Given the description of an element on the screen output the (x, y) to click on. 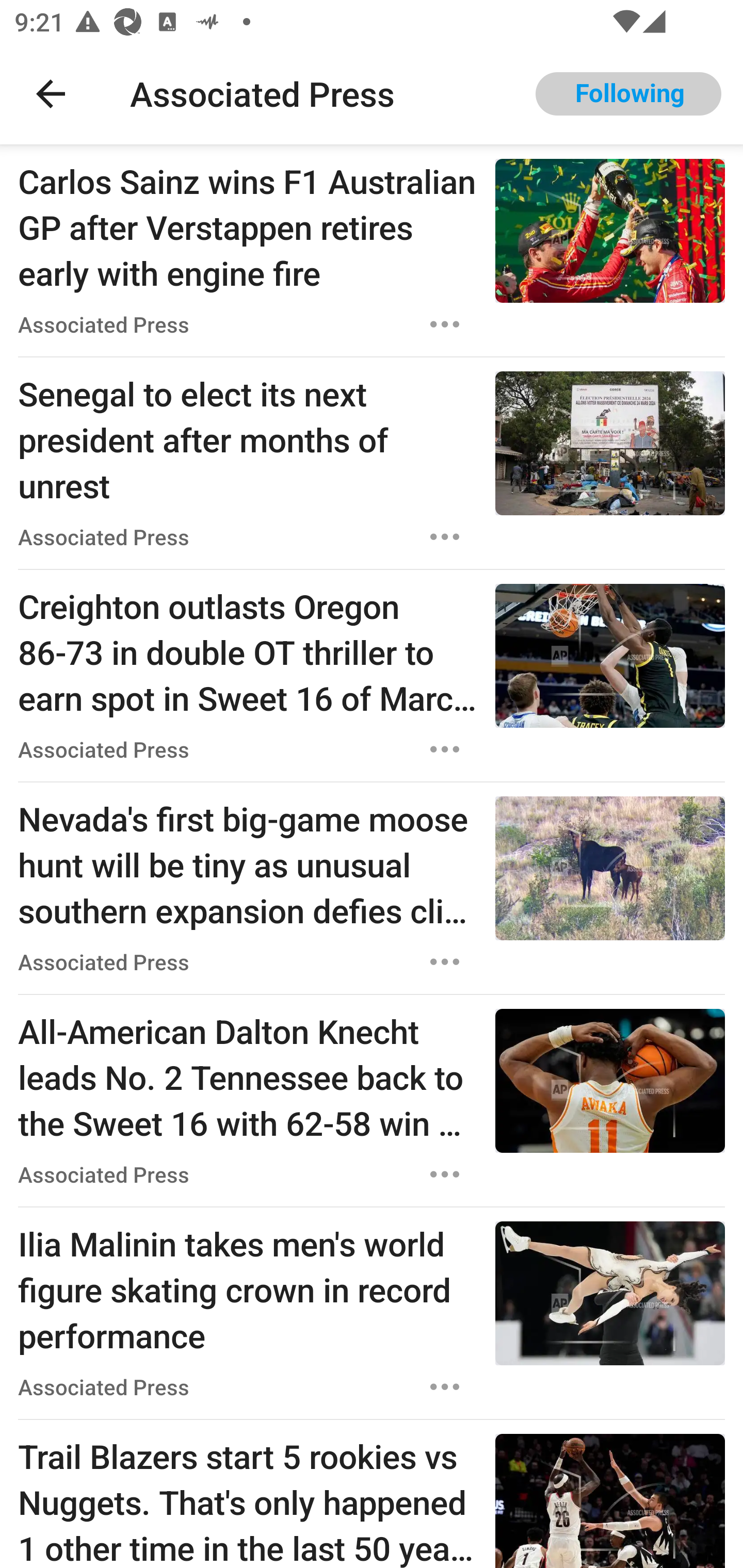
Navigate up (50, 93)
Following (628, 94)
Options (444, 324)
Options (444, 536)
Options (444, 749)
Options (444, 961)
Options (444, 1174)
Options (444, 1386)
